Given the description of an element on the screen output the (x, y) to click on. 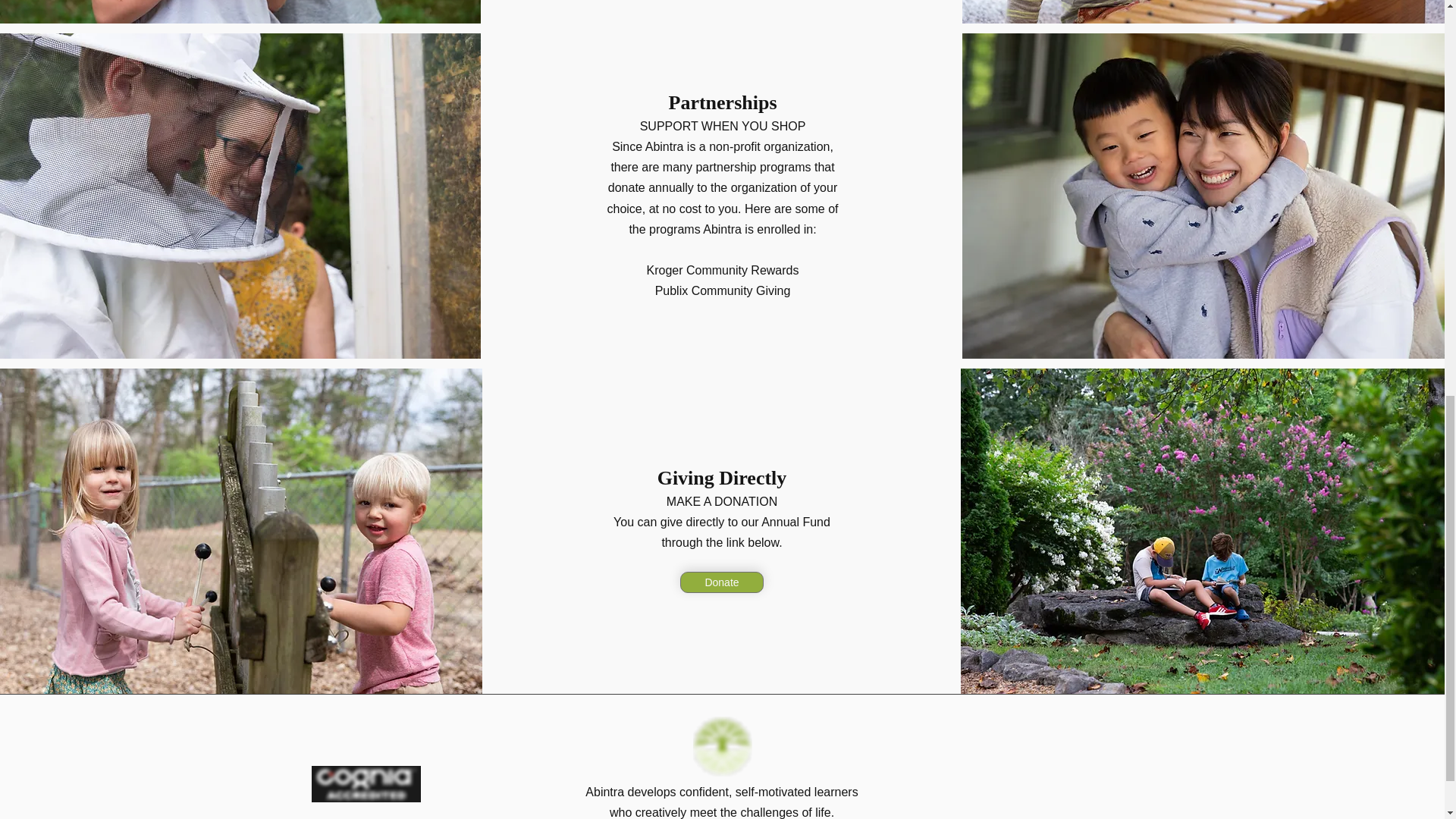
Donate (720, 581)
Logo Advanced.png (365, 783)
